Given the description of an element on the screen output the (x, y) to click on. 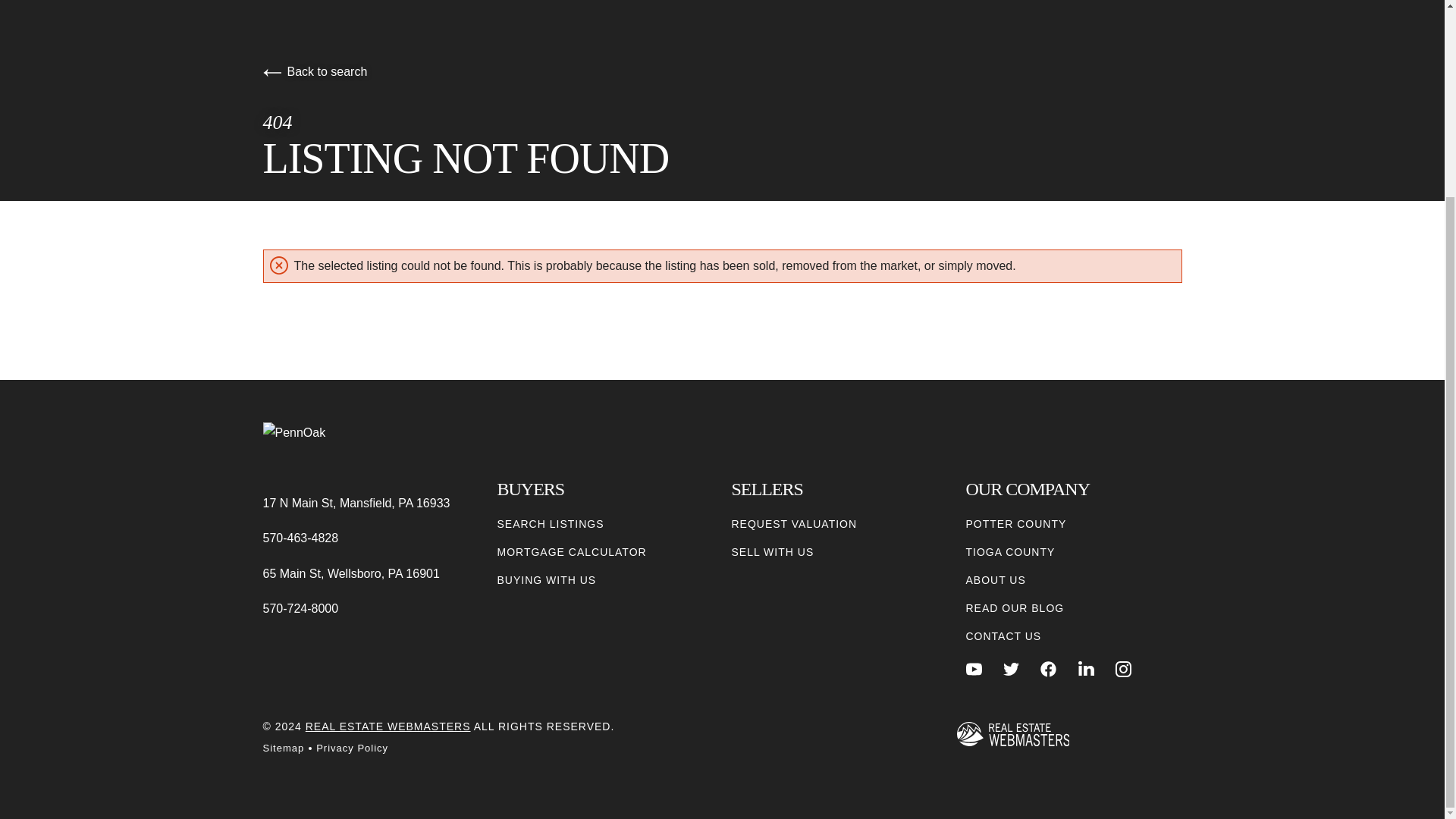
ABOUT US (996, 580)
SELL WITH US (771, 552)
LINKEDIN (1086, 668)
TIOGA COUNTY (1010, 552)
POTTER COUNTY (1016, 524)
MORTGAGE CALCULATOR (571, 552)
FACEBOOK (1049, 668)
REQUEST VALUATION (793, 524)
Back to search (314, 71)
YOUTUBE (973, 668)
